Given the description of an element on the screen output the (x, y) to click on. 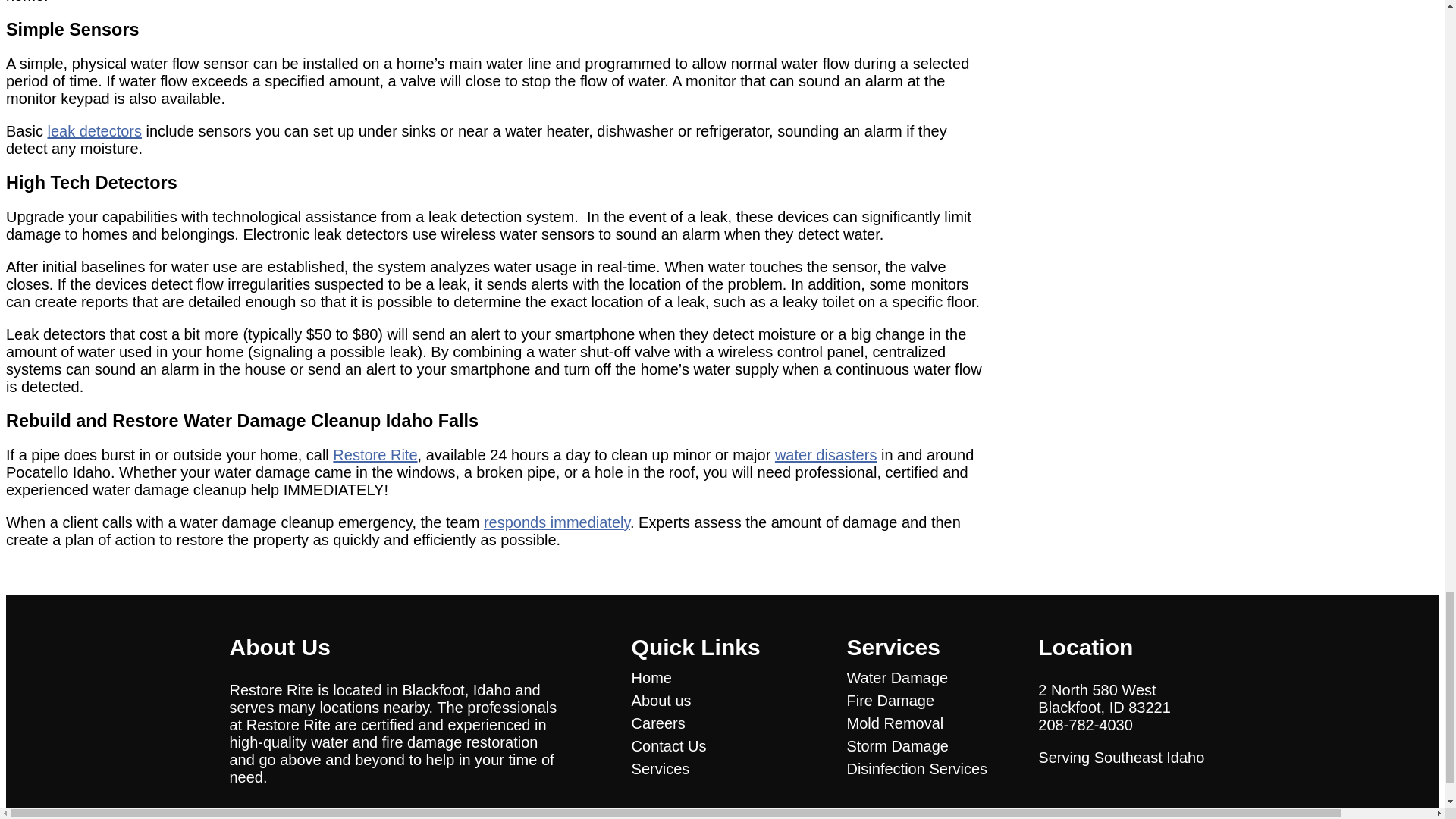
leak detectors (93, 130)
Home (716, 677)
About us (716, 700)
Restore Rite (374, 454)
water disasters (825, 454)
responds immediately (556, 522)
